Given the description of an element on the screen output the (x, y) to click on. 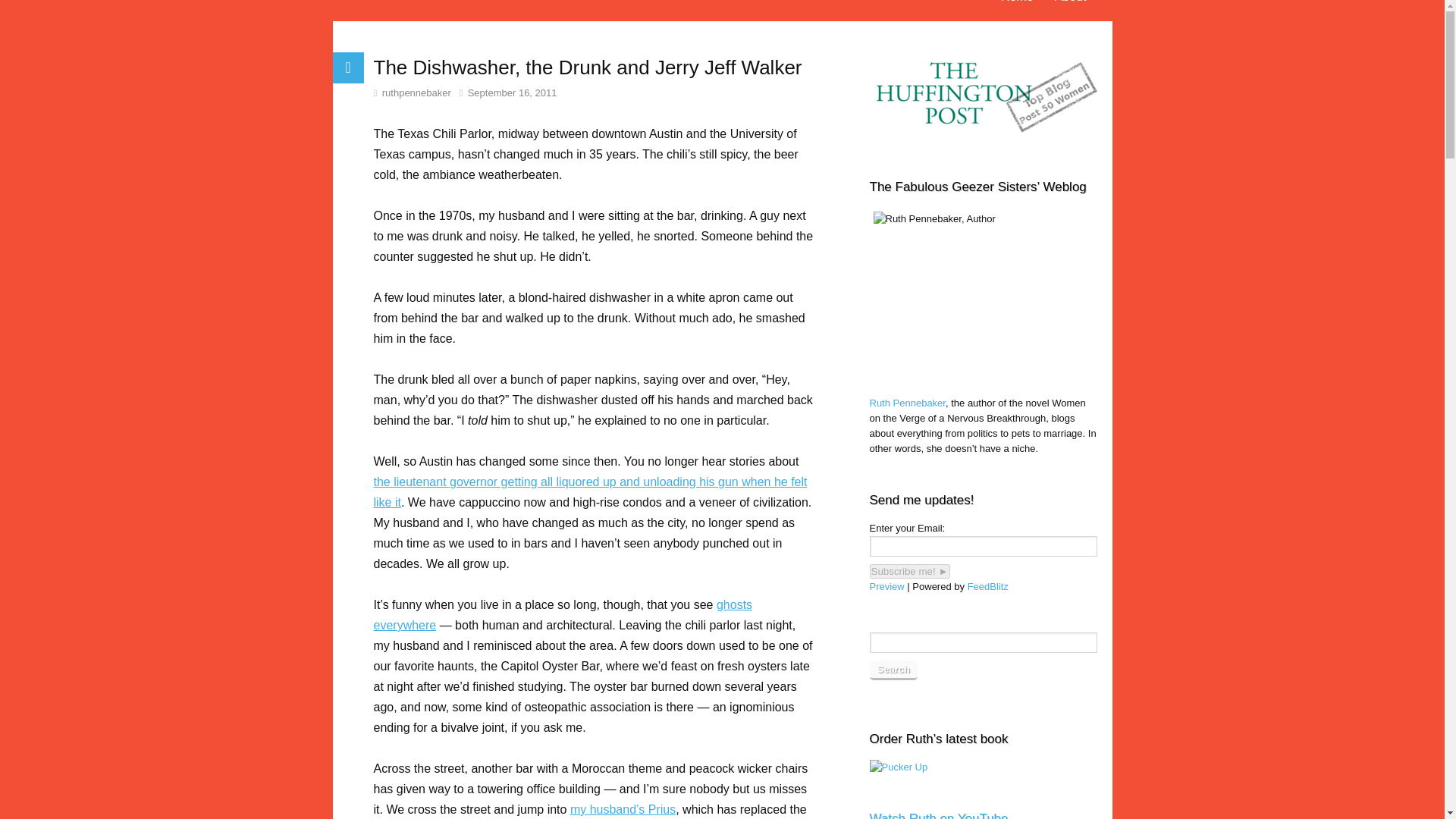
Home (1016, 5)
Search (893, 670)
About (1070, 5)
HuffPo Top Blog (982, 97)
ghosts everywhere (562, 614)
2011-09-16 (507, 92)
